Given the description of an element on the screen output the (x, y) to click on. 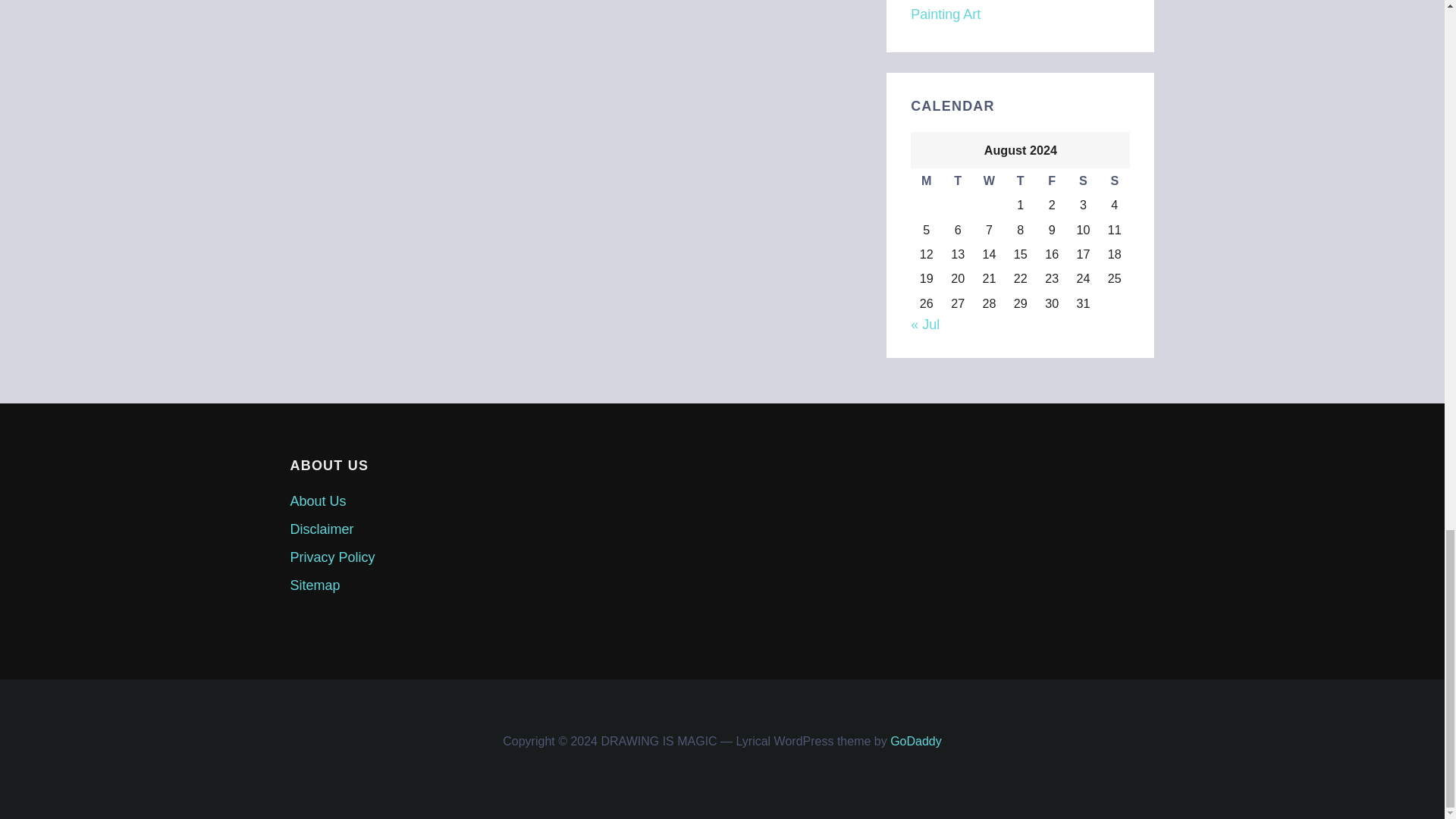
Thursday (1019, 180)
Wednesday (989, 180)
Saturday (1083, 180)
Tuesday (957, 180)
Sunday (1114, 180)
Monday (926, 180)
Friday (1051, 180)
